Given the description of an element on the screen output the (x, y) to click on. 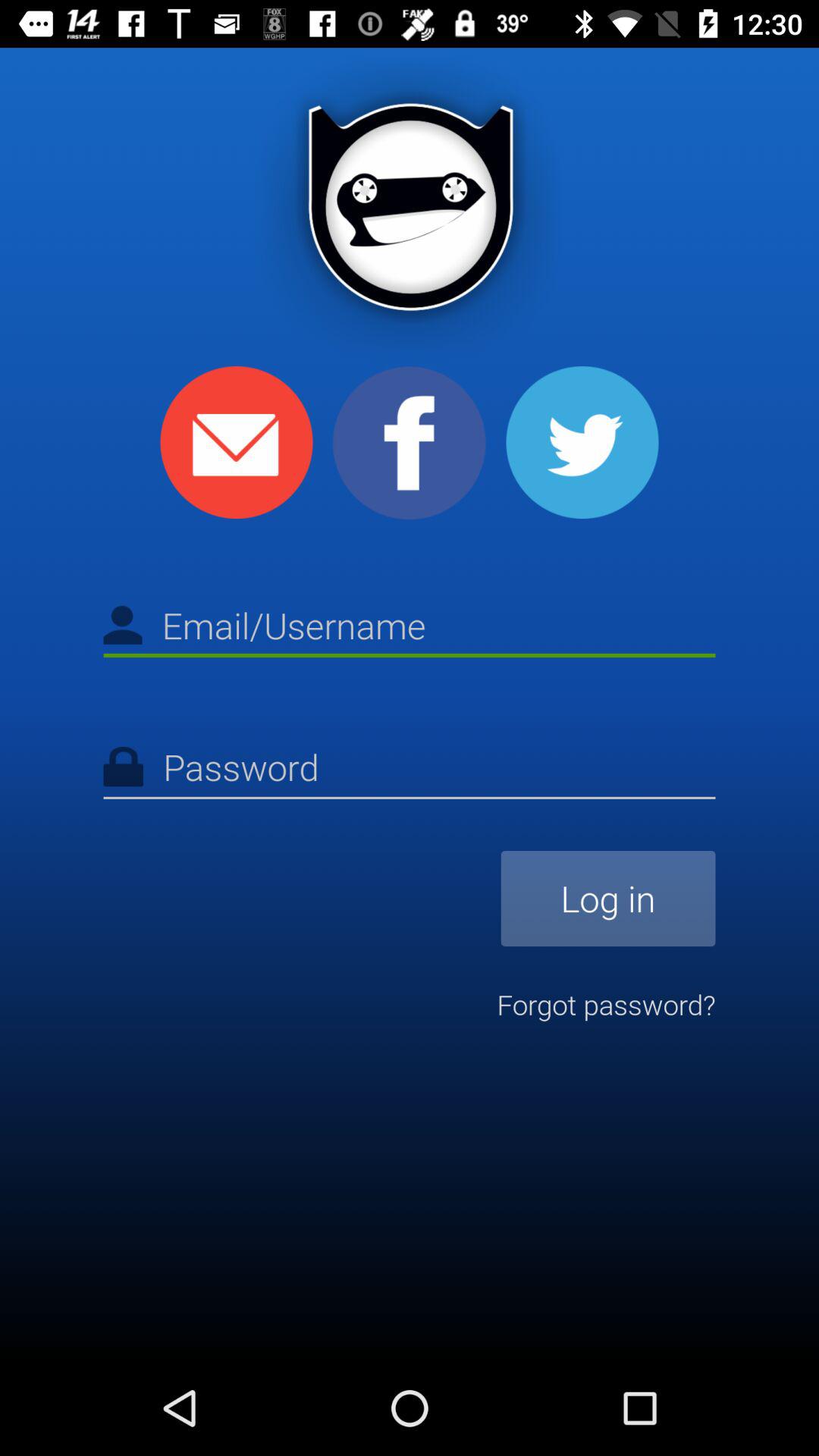
turn off forgot password? (606, 1004)
